Given the description of an element on the screen output the (x, y) to click on. 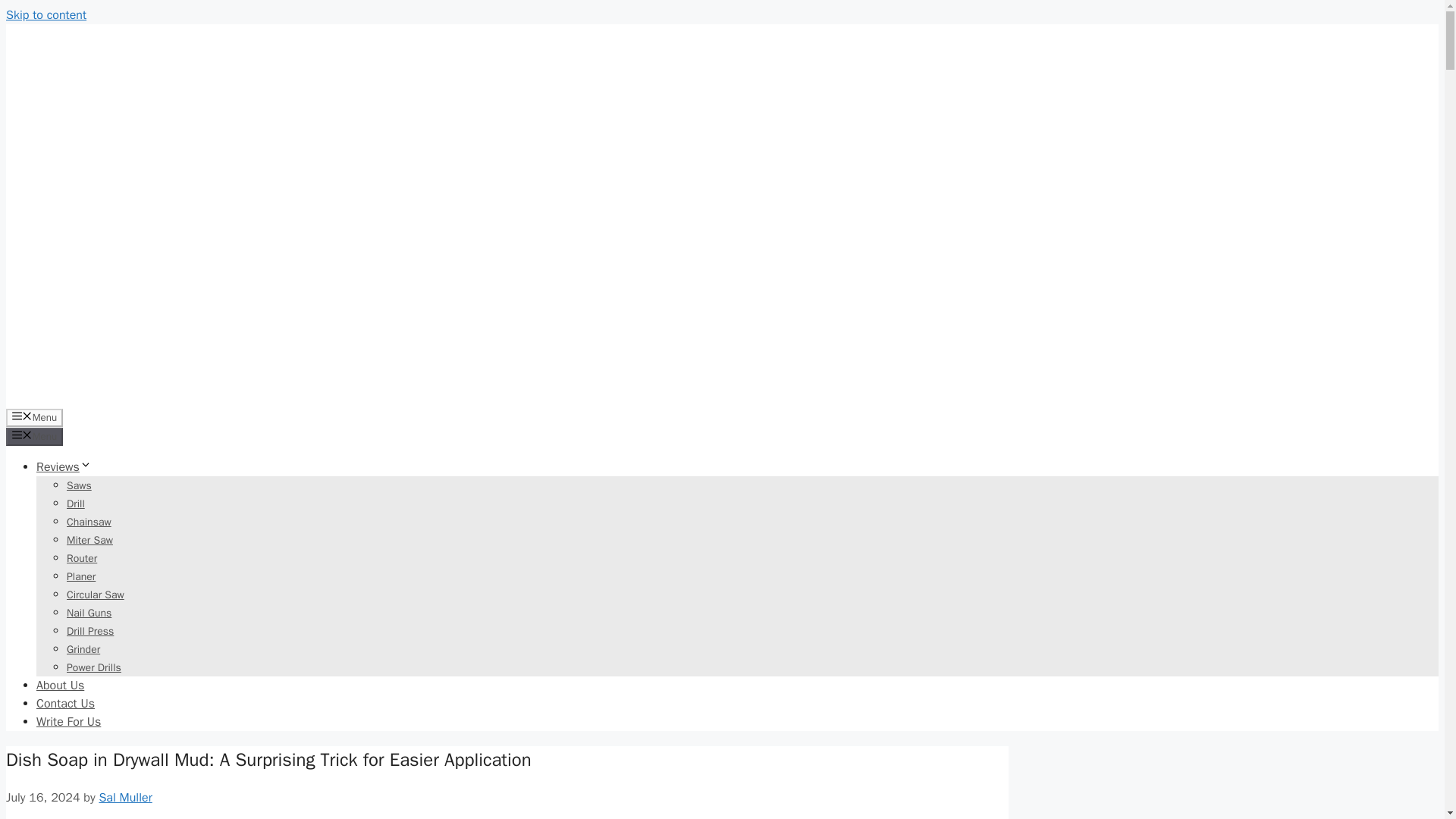
Drill Press (89, 631)
Contact Us (65, 703)
Reviews (63, 467)
Menu (33, 417)
View all posts by Sal Muller (125, 797)
Grinder (83, 649)
Planer (81, 576)
Saws (78, 485)
Write For Us (68, 721)
Chainsaw (89, 521)
Tool Trip (73, 213)
Nail Guns (89, 612)
Tool Trip (73, 398)
Menu (33, 436)
Skip to content (45, 14)
